Given the description of an element on the screen output the (x, y) to click on. 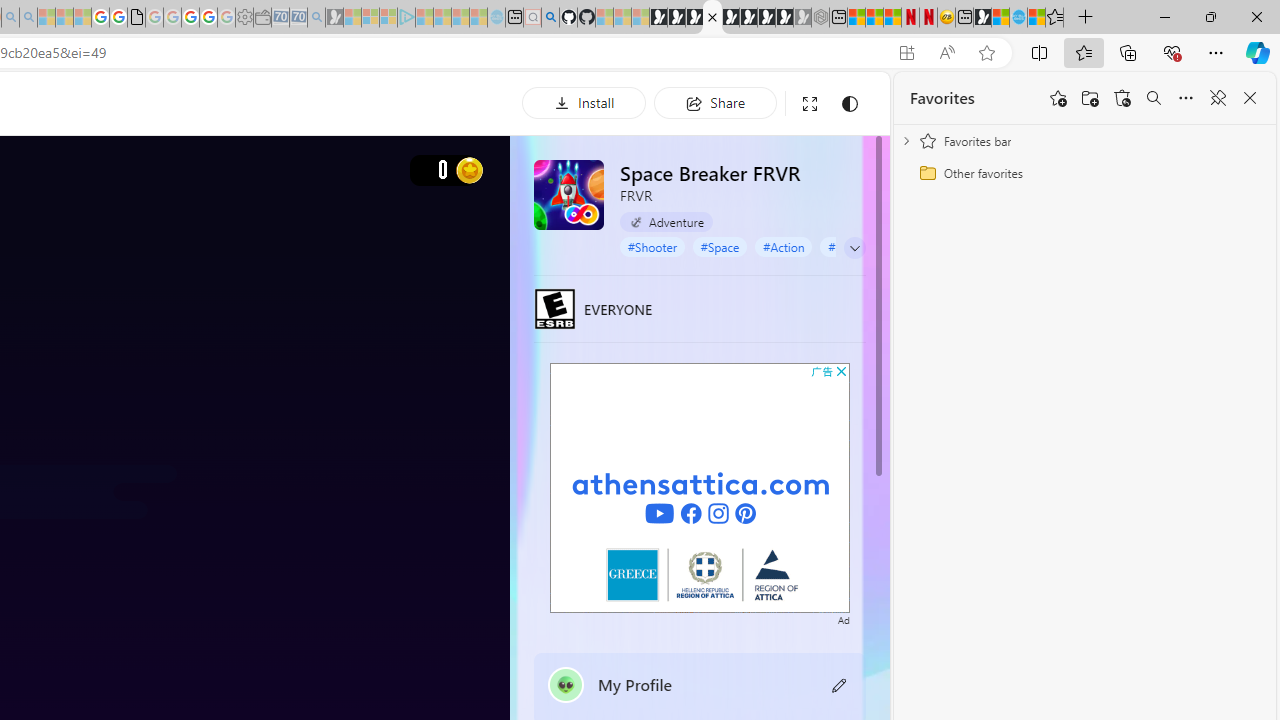
Adventure (665, 222)
#Space (719, 246)
""'s avatar (565, 684)
#Shooter (651, 246)
Space Breaker FRVR (568, 194)
